Given the description of an element on the screen output the (x, y) to click on. 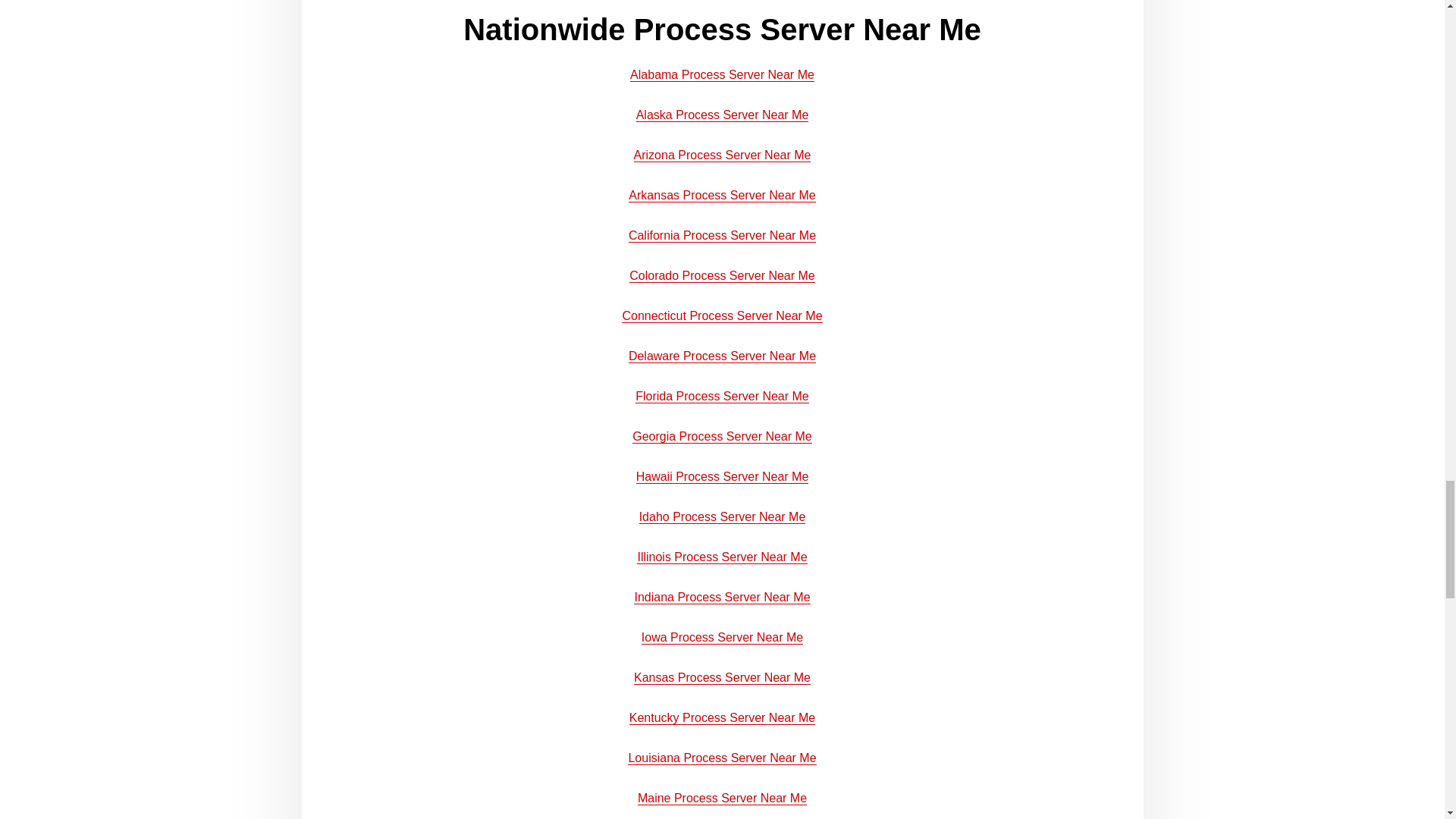
Arizona Process Server Near Me (721, 154)
Alabama Process Server Near Me (721, 74)
California Process Server Near Me (721, 235)
Alaska Process Server Near Me (722, 114)
Colorado Process Server Near Me (721, 275)
Arkansas Process Server Near Me (721, 195)
